Given the description of an element on the screen output the (x, y) to click on. 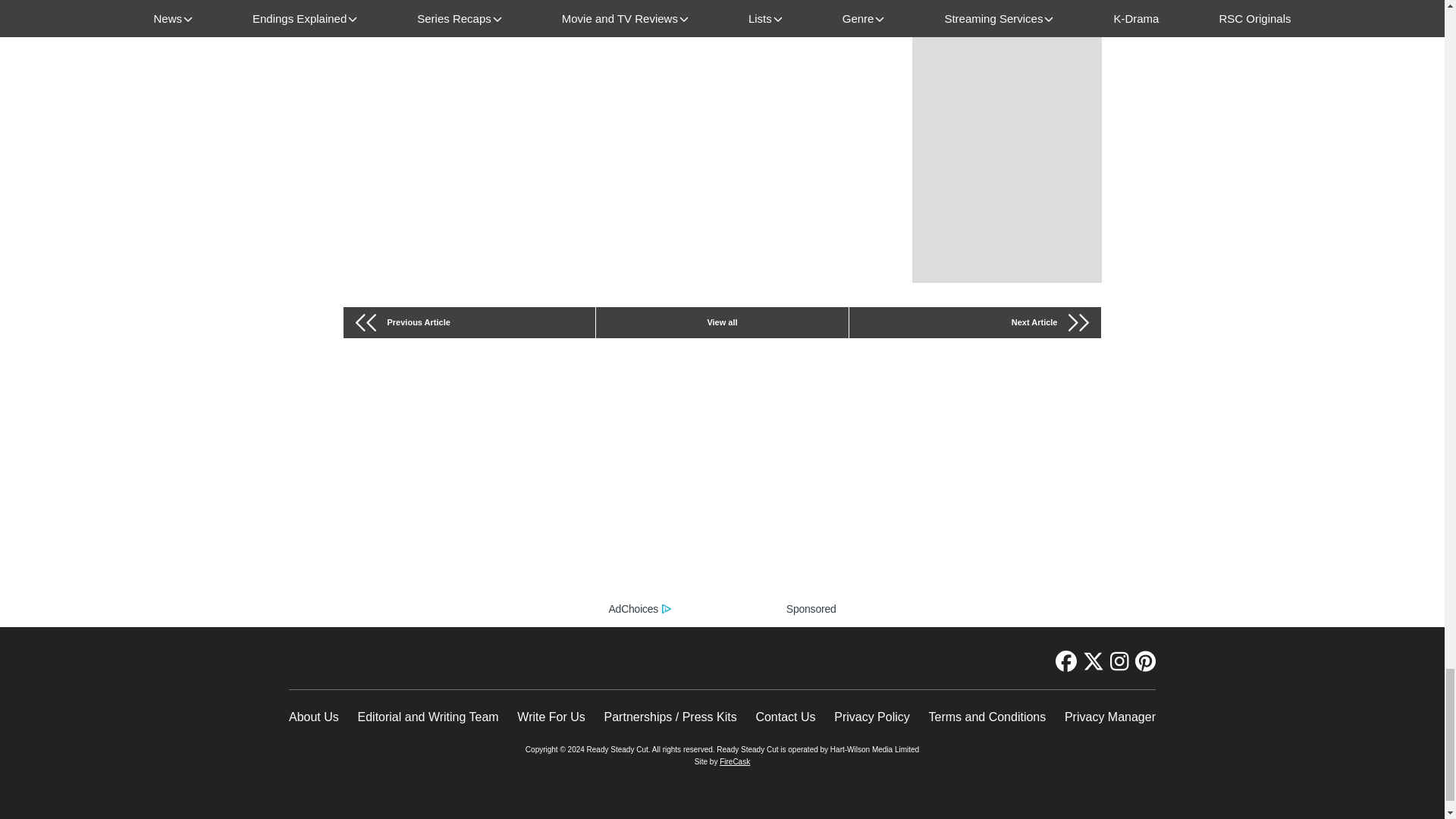
ad content (721, 493)
